Given the description of an element on the screen output the (x, y) to click on. 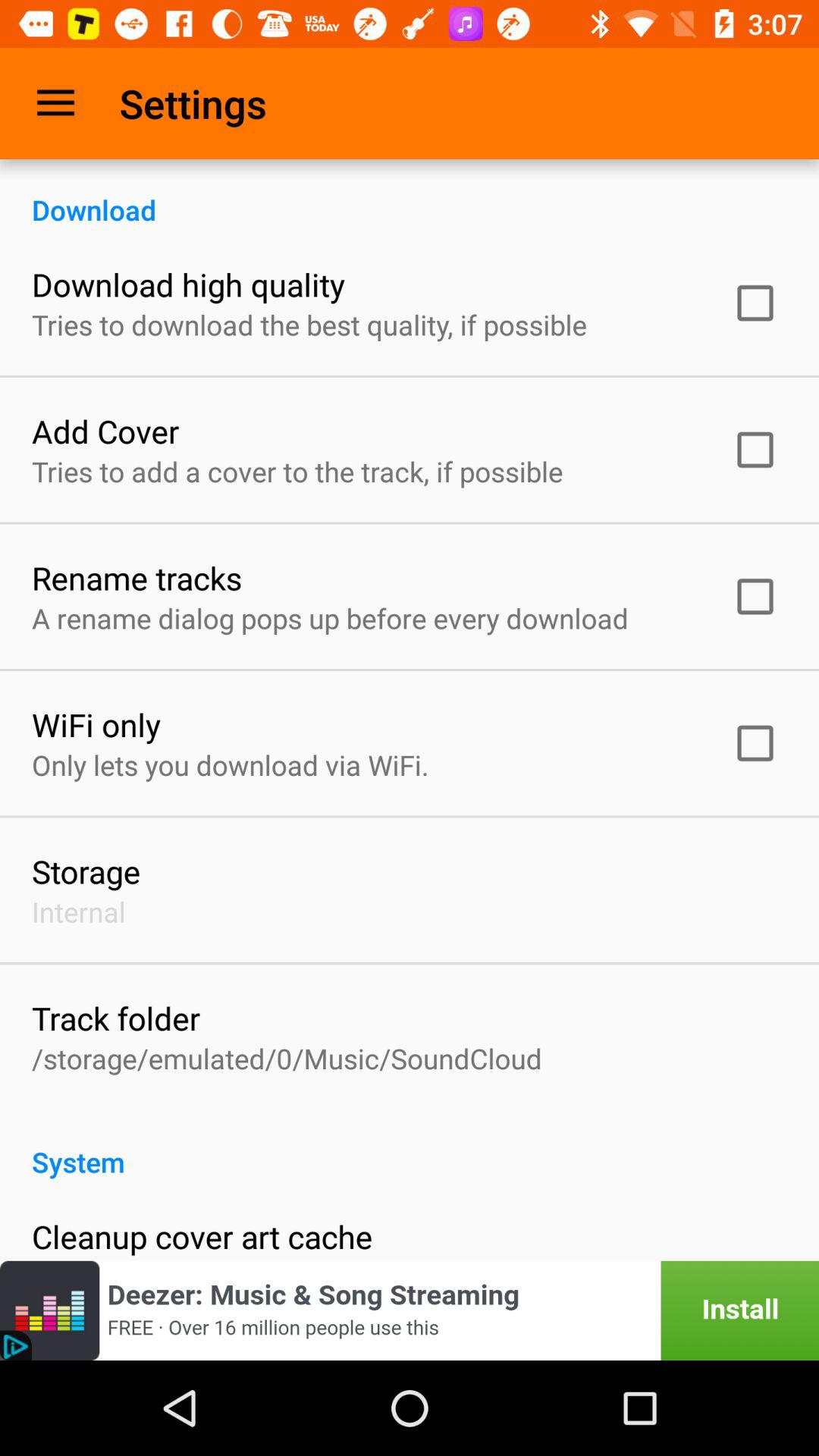
click item above download icon (55, 103)
